Given the description of an element on the screen output the (x, y) to click on. 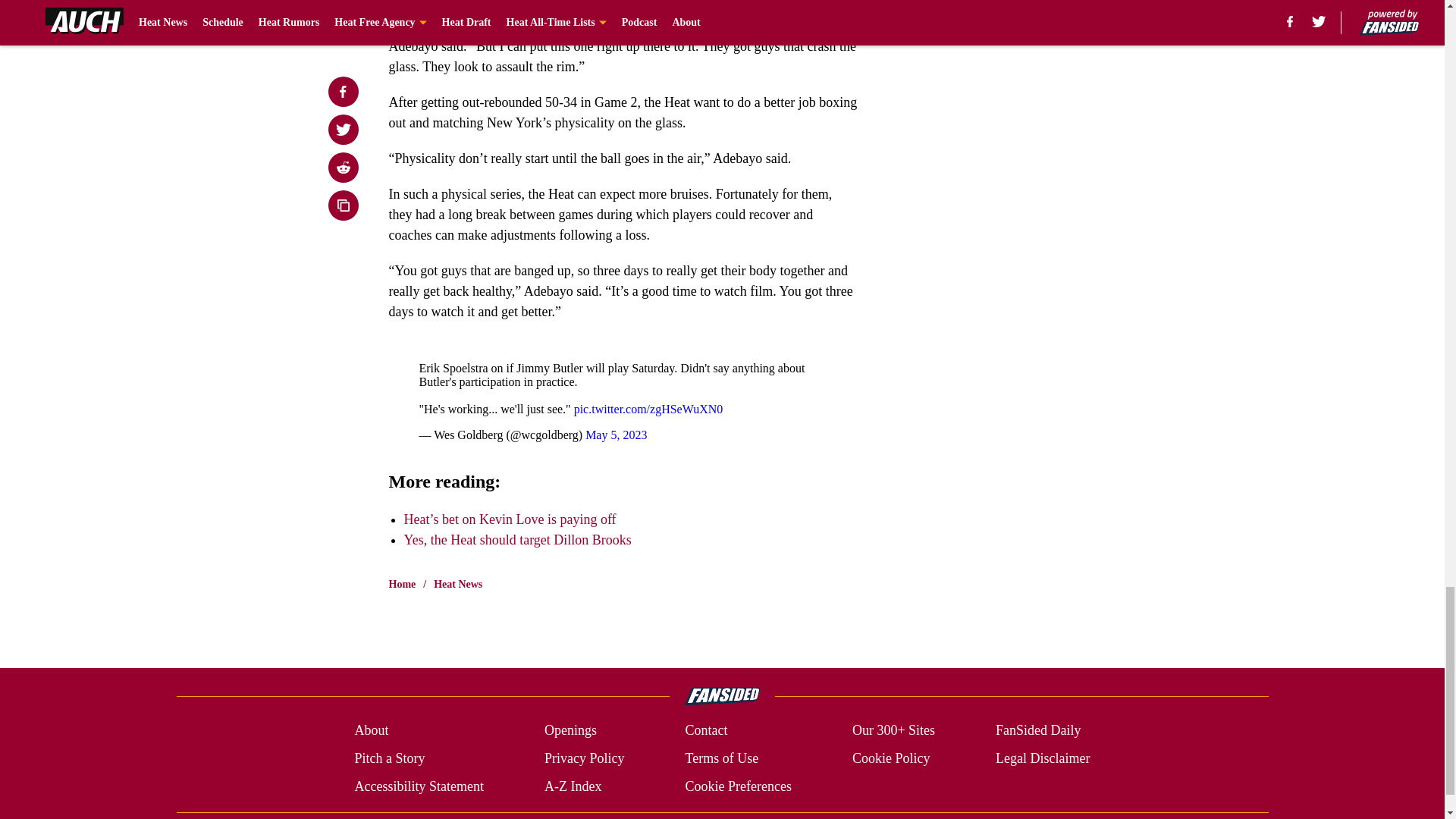
About (370, 730)
Privacy Policy (584, 758)
Pitch a Story (389, 758)
Yes, the Heat should target Dillon Brooks (516, 539)
Home (401, 584)
Openings (570, 730)
Cookie Policy (890, 758)
Terms of Use (721, 758)
Heat News (457, 584)
FanSided Daily (1038, 730)
